Given the description of an element on the screen output the (x, y) to click on. 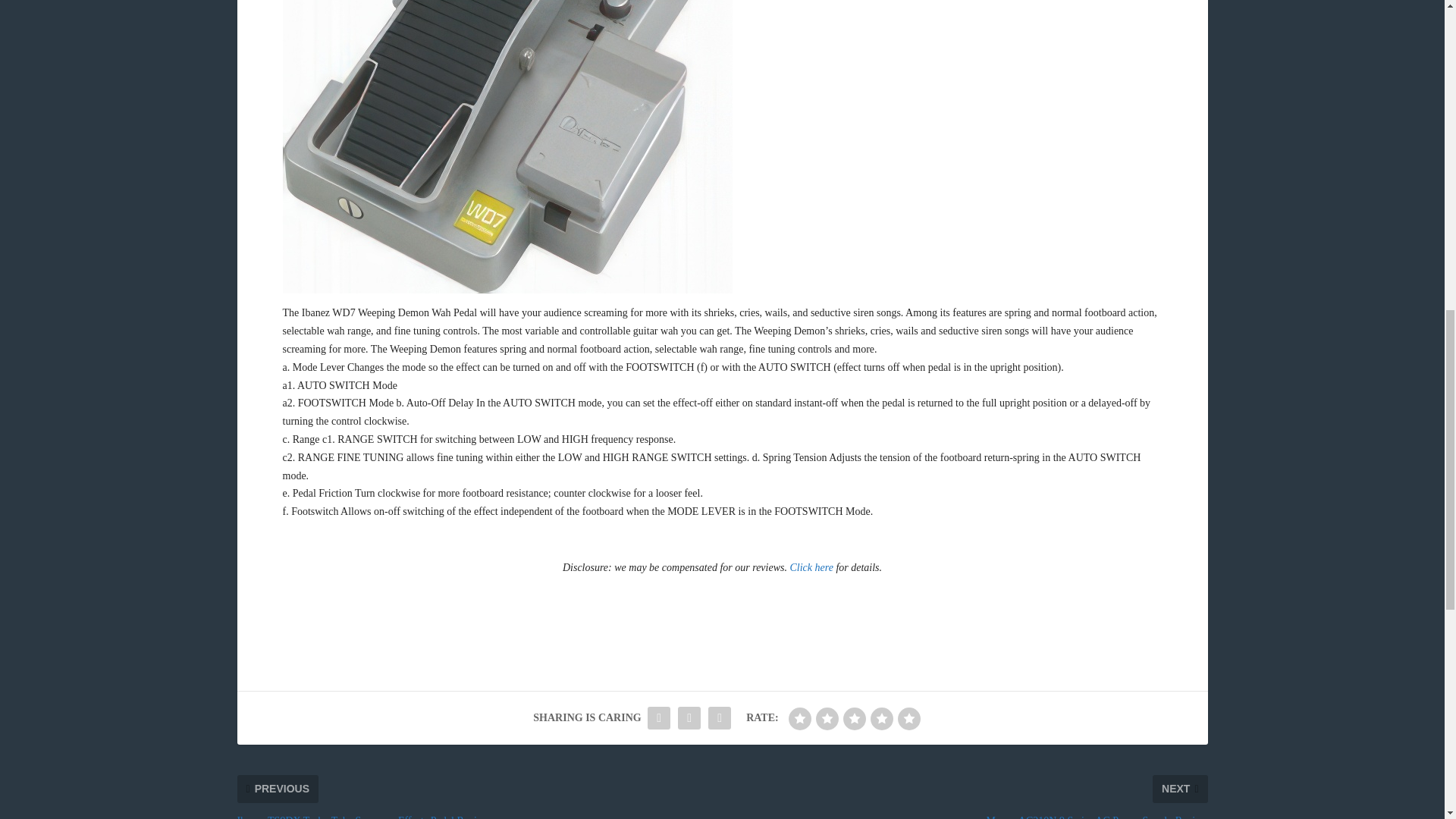
good (881, 718)
Click here (810, 567)
bad (799, 718)
regular (854, 718)
poor (826, 718)
